Given the description of an element on the screen output the (x, y) to click on. 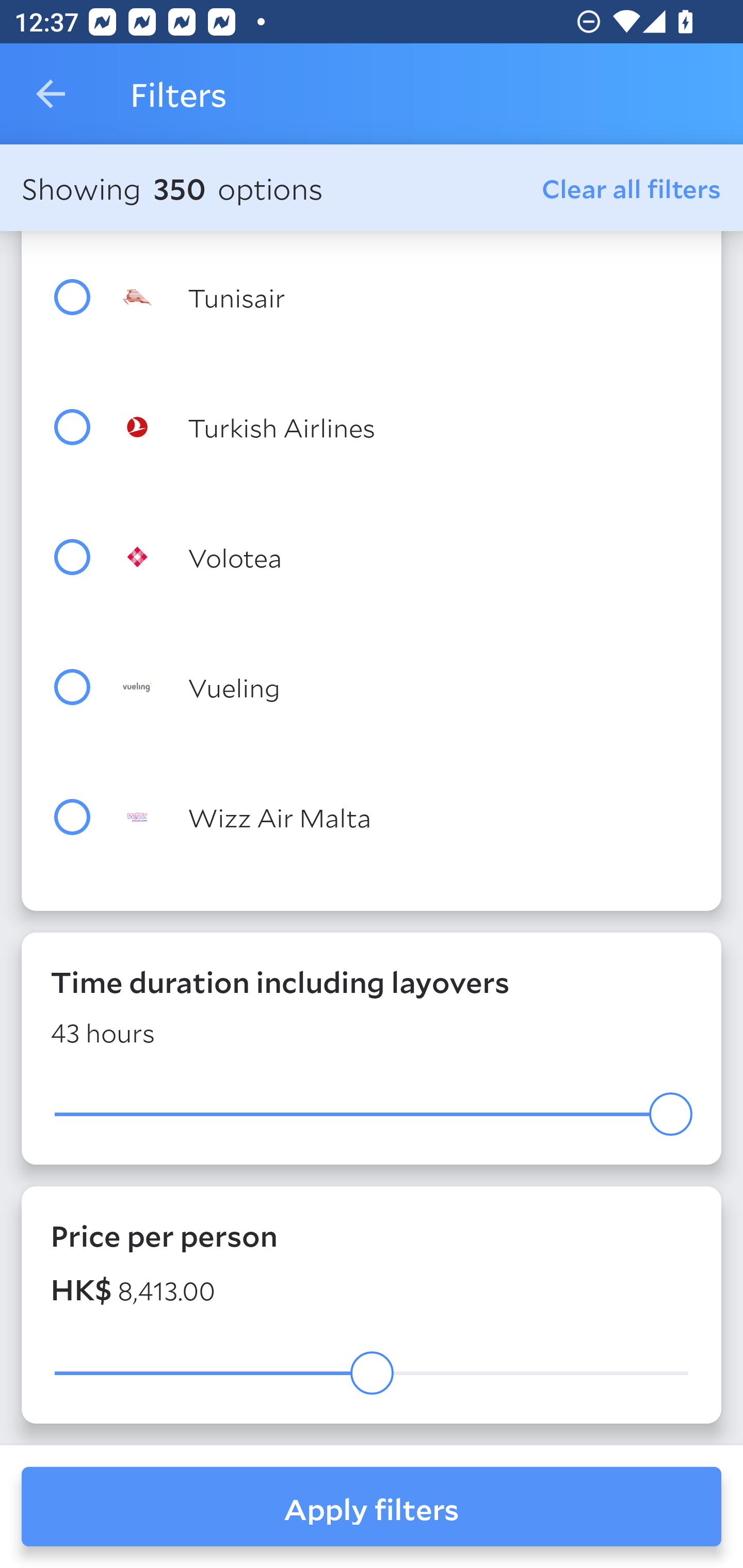
Navigate up (50, 93)
Clear all filters (631, 187)
Tunisair (407, 296)
Turkish Airlines (407, 426)
Volotea (407, 556)
Vueling (407, 686)
Wizz Air Malta (407, 816)
Apply filters (371, 1506)
